Given the description of an element on the screen output the (x, y) to click on. 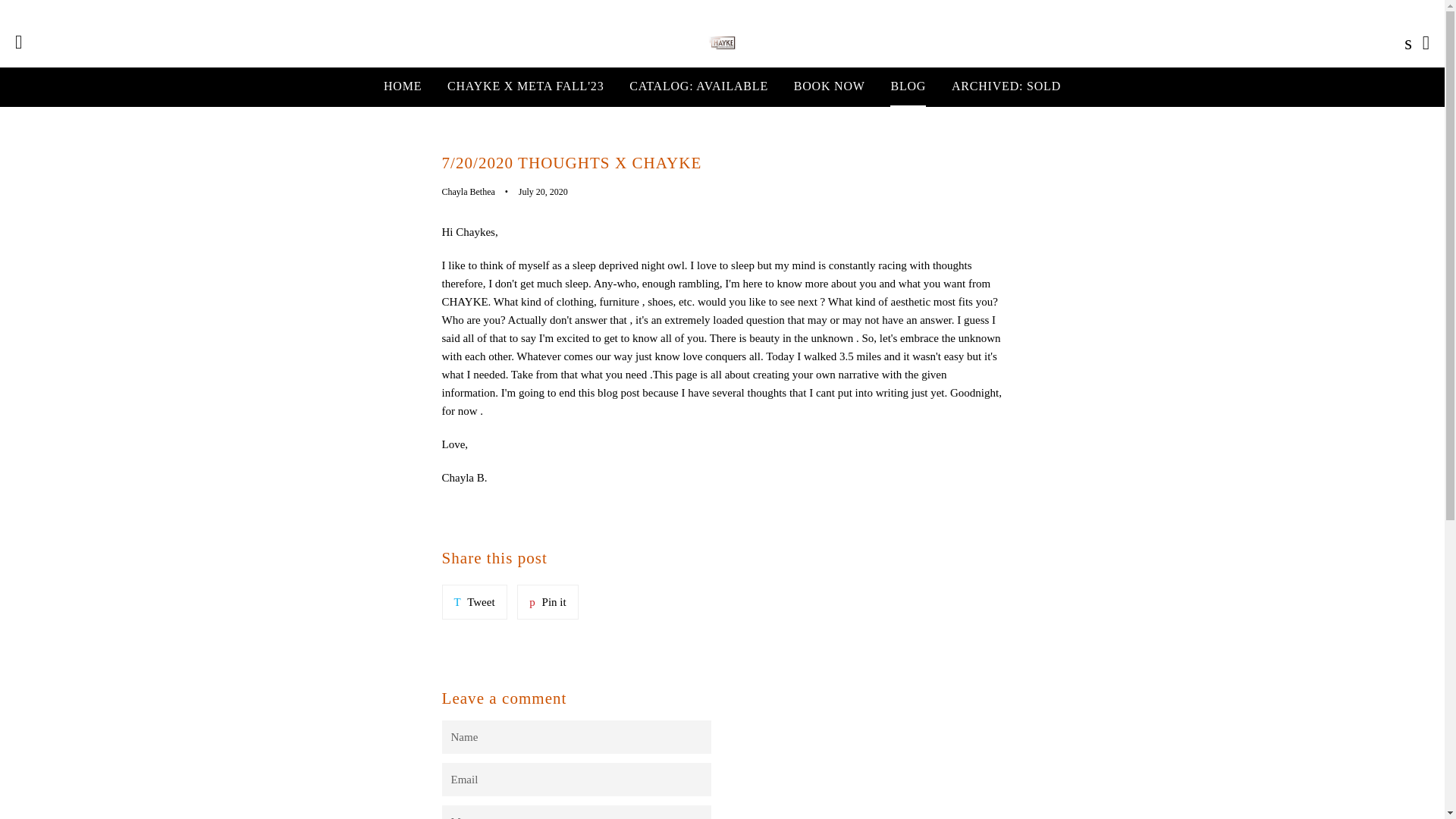
BLOG (908, 86)
BOOK NOW (829, 86)
Pin on Pinterest (473, 601)
HOME (547, 601)
CHAYKE X META FALL'23 (402, 86)
CATALOG: AVAILABLE (524, 86)
ARCHIVED: SOLD (697, 86)
Tweet on Twitter (547, 601)
